Given the description of an element on the screen output the (x, y) to click on. 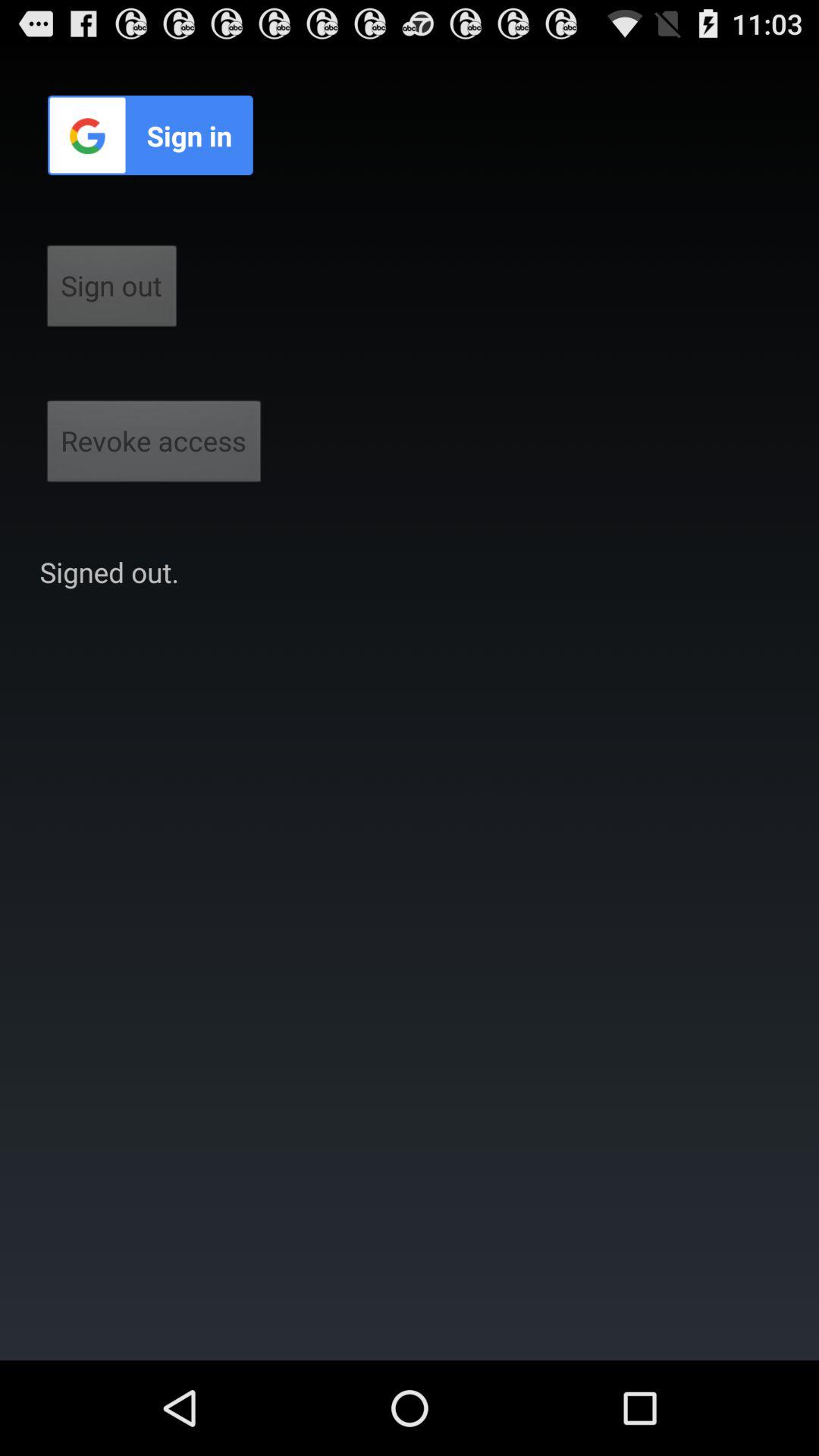
turn on the button below the sign out button (154, 445)
